Given the description of an element on the screen output the (x, y) to click on. 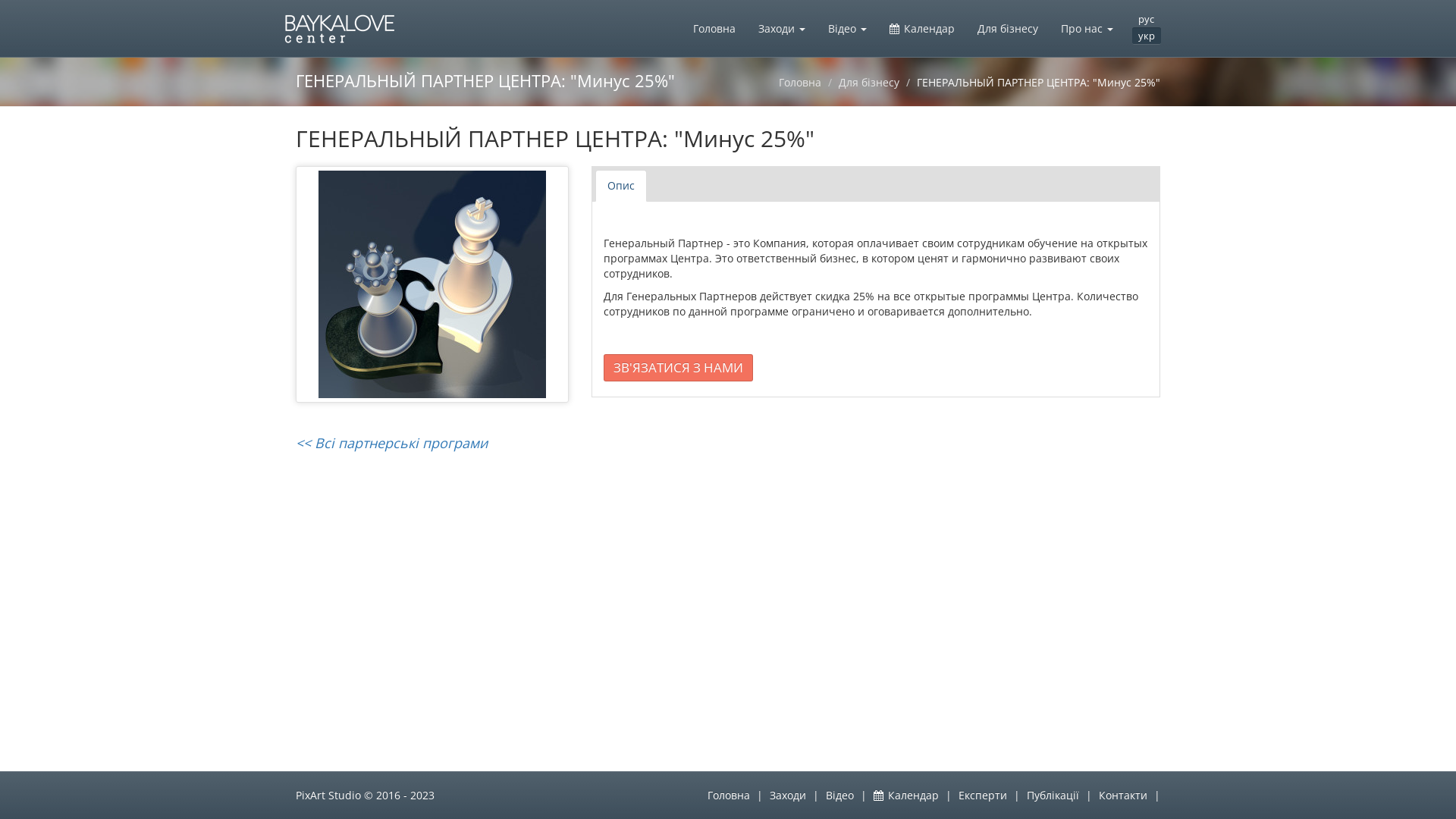
PixArt Studio Element type: text (327, 794)
